Given the description of an element on the screen output the (x, y) to click on. 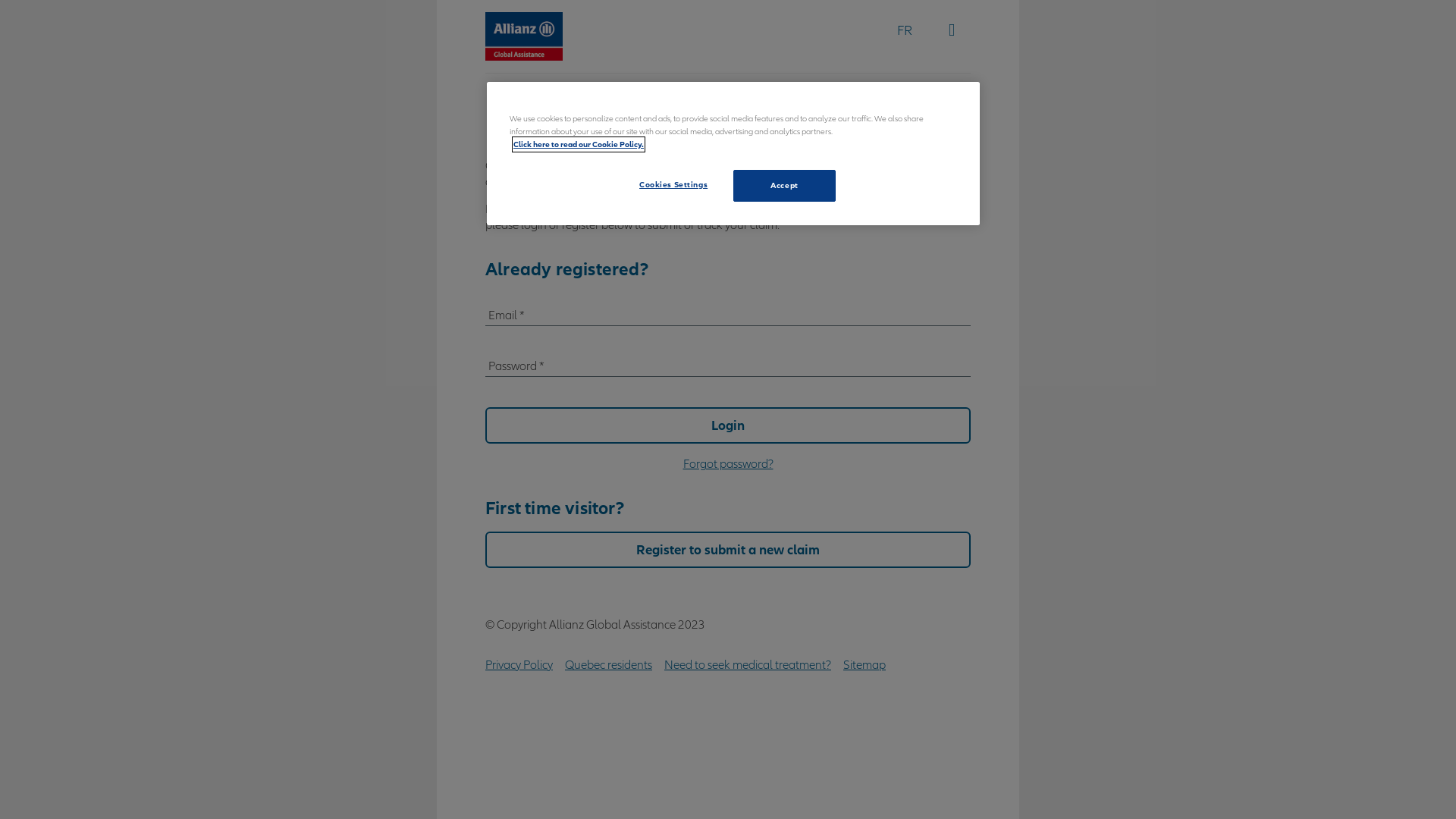
Forgot password? Element type: text (727, 463)
Cookies Settings Element type: text (673, 184)
click here Element type: text (876, 208)
Register to submit a new claim Element type: text (727, 549)
Click here to read our Cookie Policy. Element type: text (578, 144)
Privacy Policy Element type: text (518, 664)
Login Element type: text (727, 425)
Sitemap Element type: text (864, 664)
Accept Element type: text (784, 185)
FR Element type: text (904, 30)
Quebec residents Element type: text (608, 664)
Need to seek medical treatment? Element type: text (747, 664)
